Given the description of an element on the screen output the (x, y) to click on. 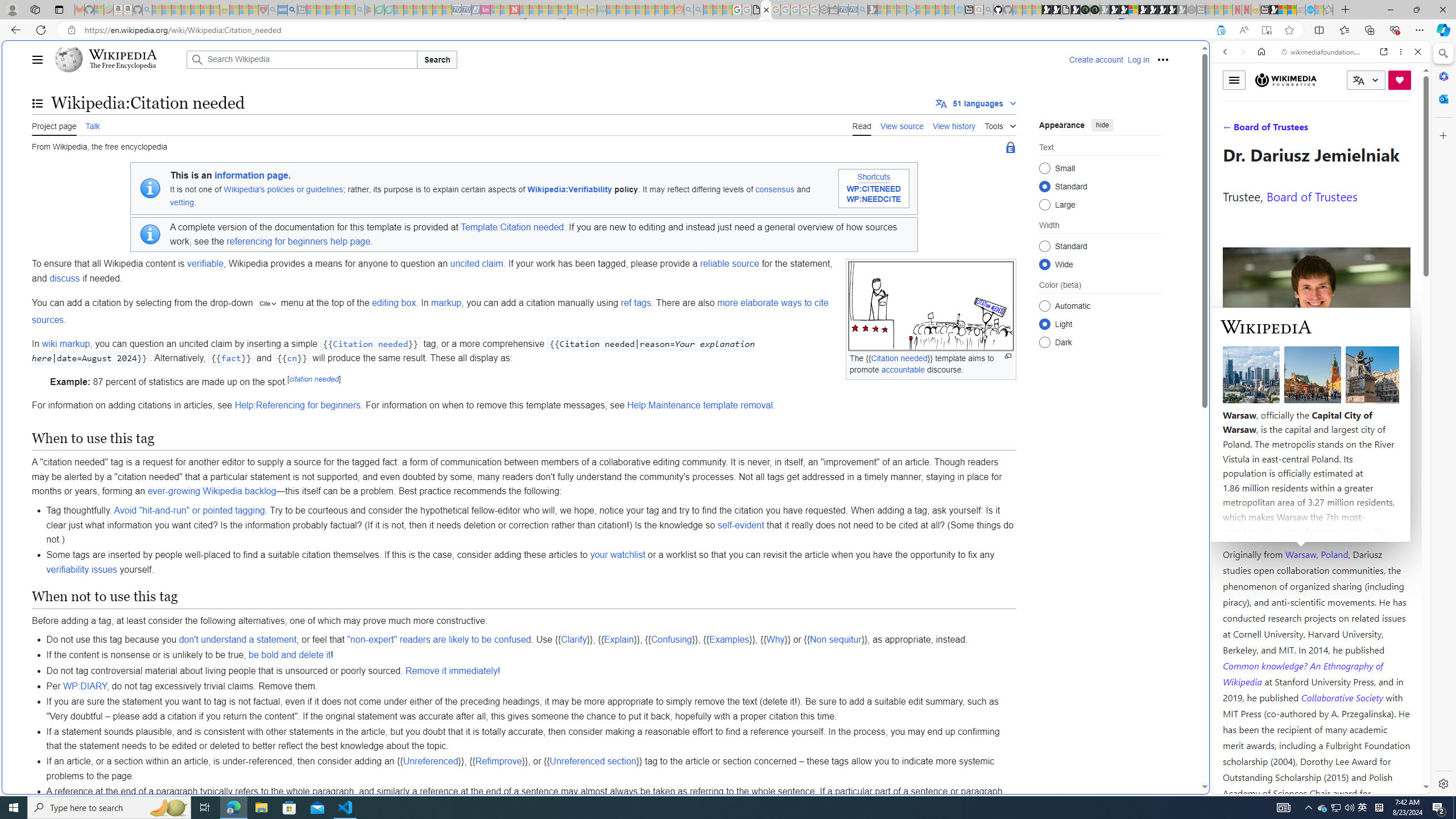
WP:NEEDCITE (873, 199)
vetting (181, 202)
Dark (1044, 341)
Template:Citation needed (512, 226)
